Given the description of an element on the screen output the (x, y) to click on. 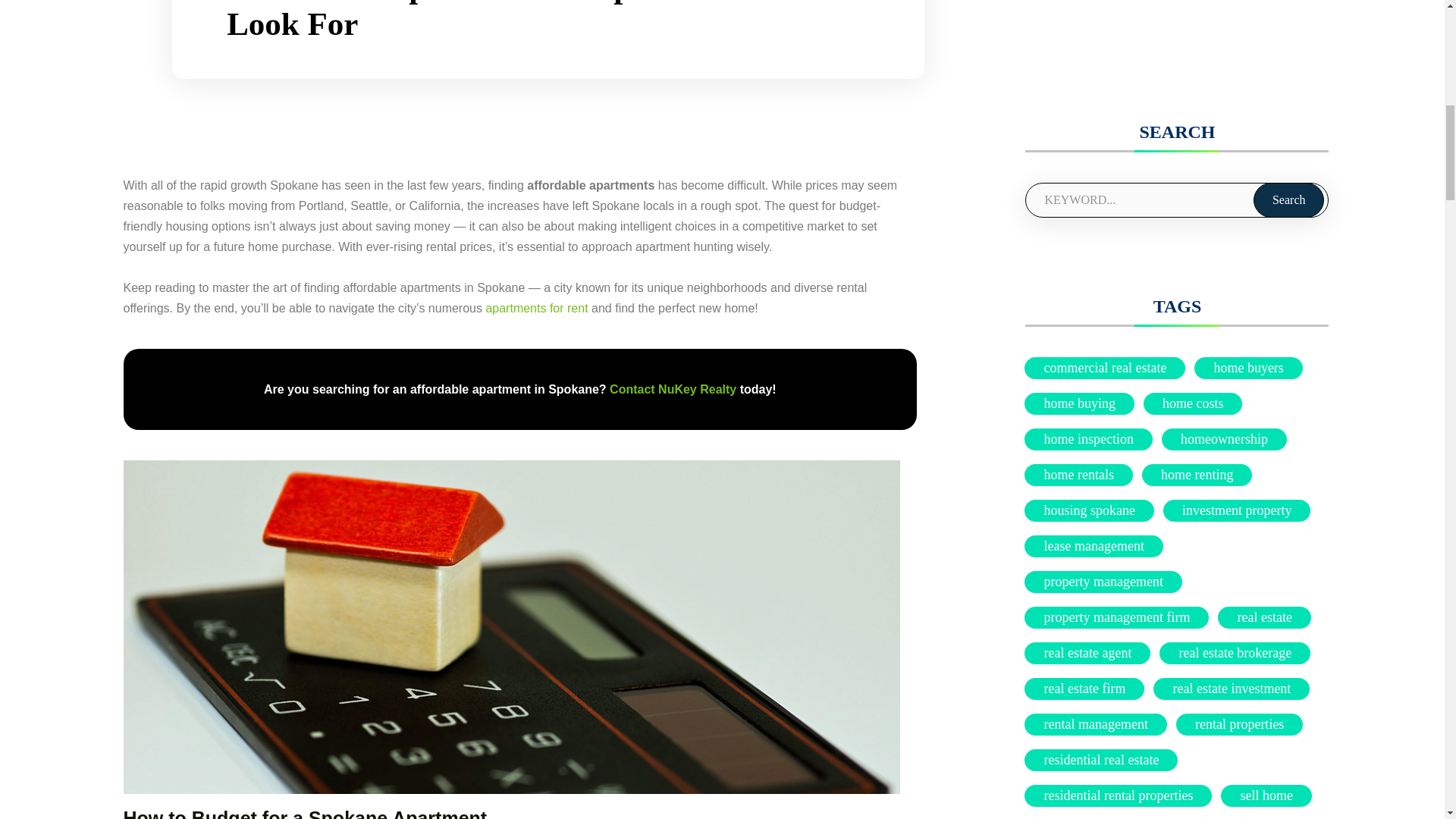
Search (1288, 199)
Search (1288, 199)
